Given the description of an element on the screen output the (x, y) to click on. 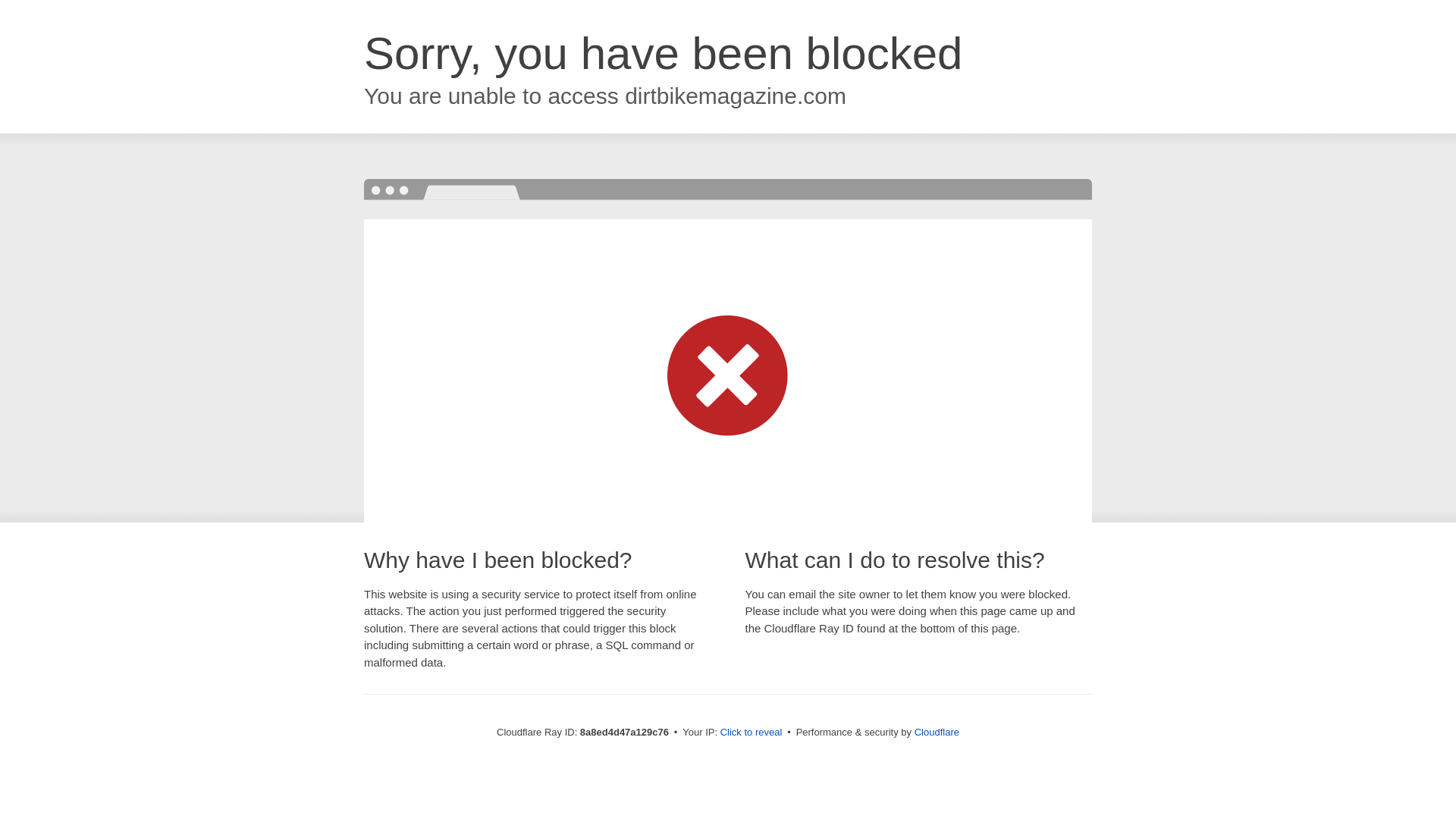
Click to reveal (751, 732)
Cloudflare (936, 731)
